Given the description of an element on the screen output the (x, y) to click on. 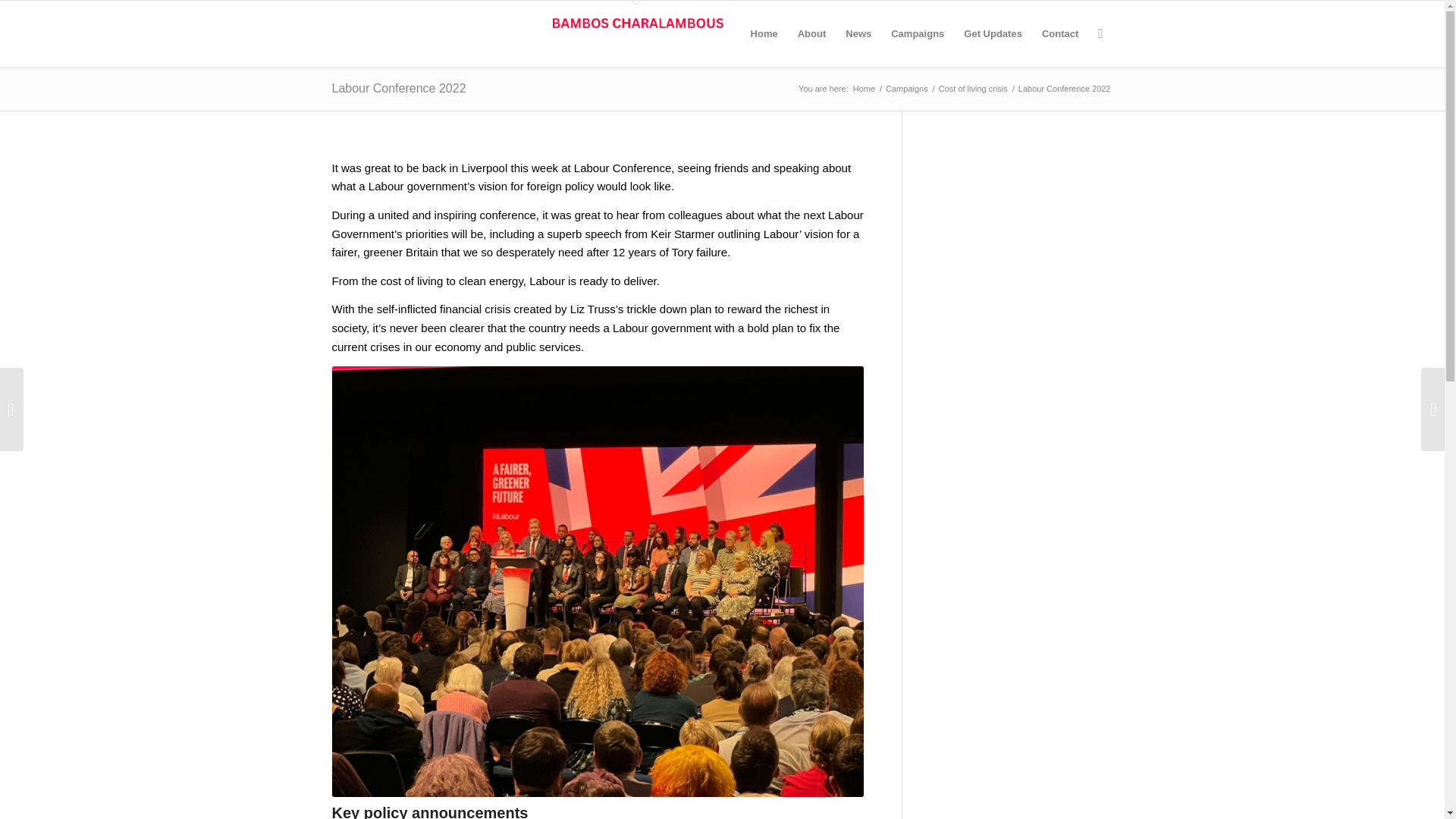
Labour Conference 2022 (398, 88)
Bambos Charalambous MP (635, 22)
Cost of living crisis (973, 89)
Campaigns (916, 33)
Home (863, 89)
Campaigns (906, 89)
Get Updates (992, 33)
Permanent Link: Labour Conference 2022 (398, 88)
Bambos (863, 89)
